Given the description of an element on the screen output the (x, y) to click on. 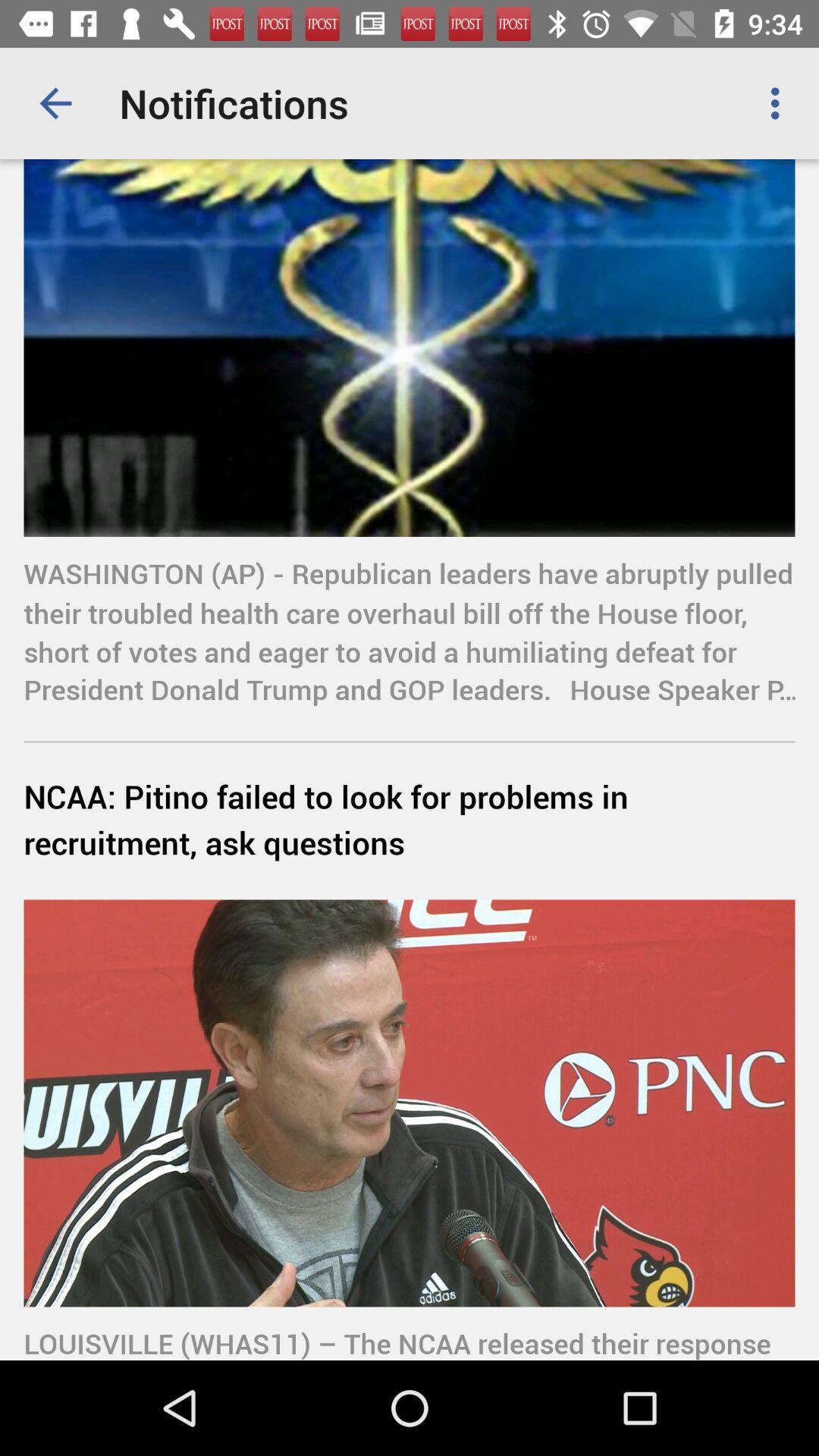
tap item to the right of the notifications item (779, 103)
